Given the description of an element on the screen output the (x, y) to click on. 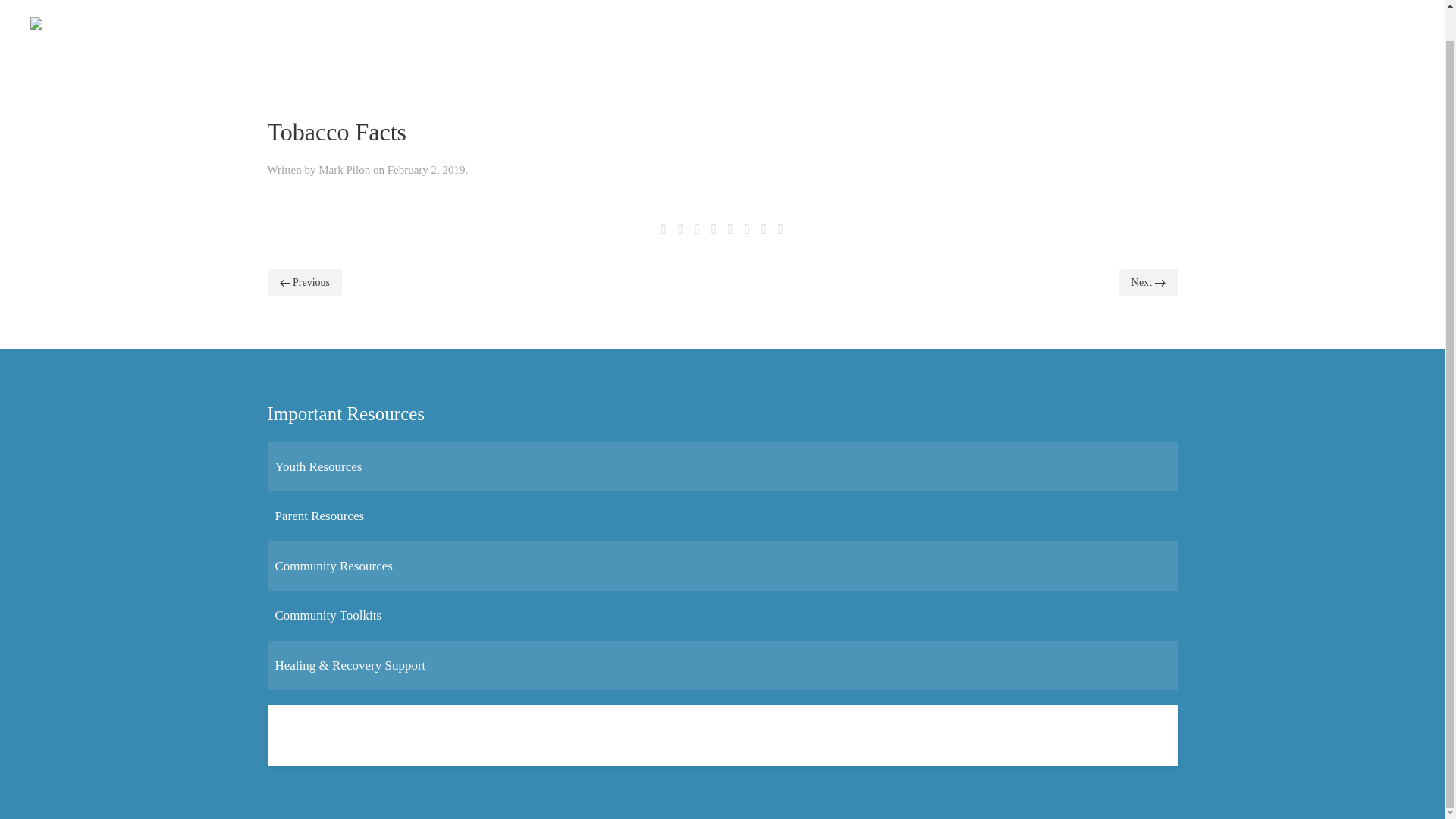
Mark Pilon (343, 169)
Previous (304, 282)
Youth Resources (318, 466)
Community Resources (333, 565)
Parent Resources (319, 515)
Community Toolkits (328, 615)
Next (1148, 282)
